Given the description of an element on the screen output the (x, y) to click on. 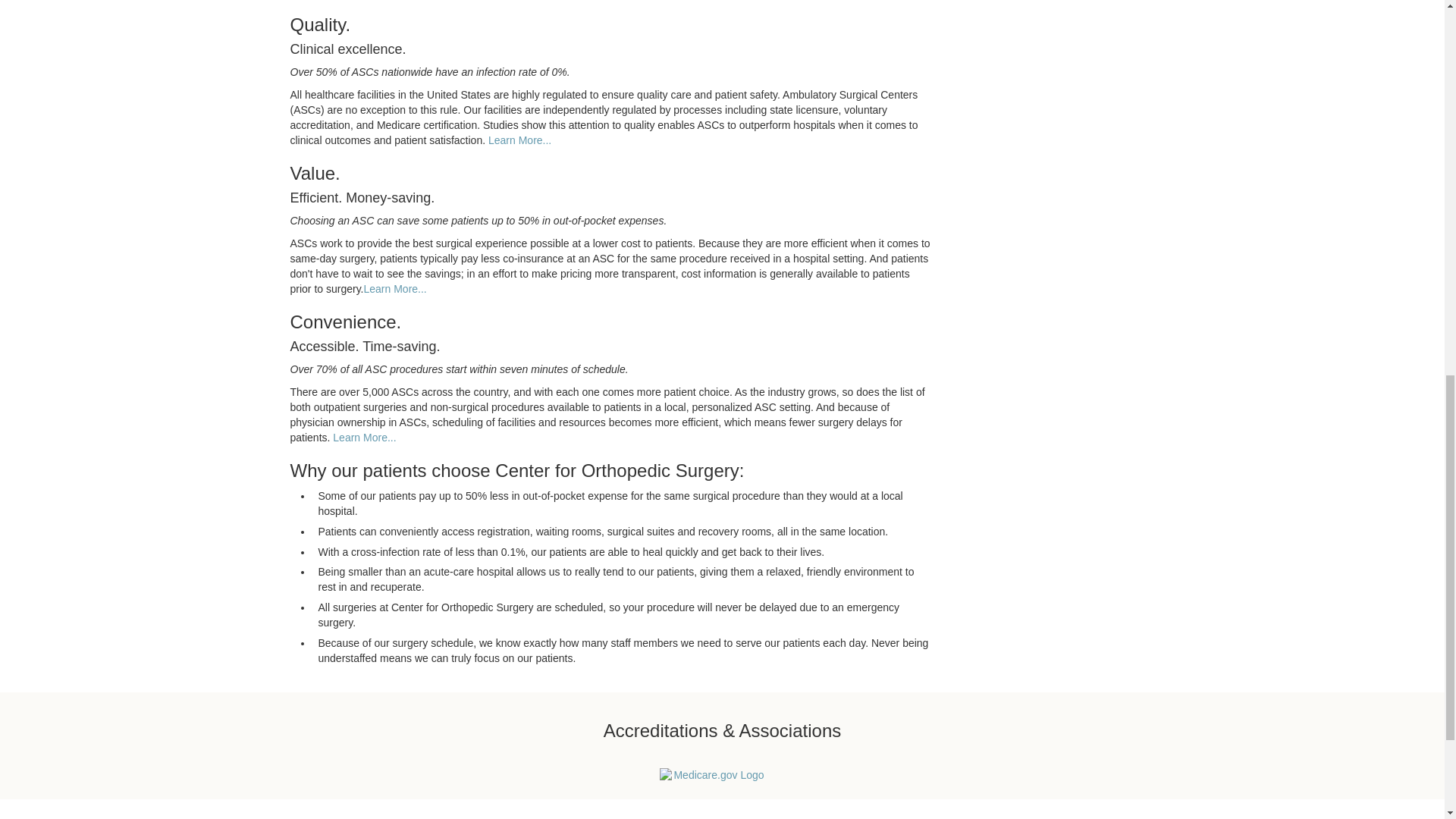
Learn More... (395, 288)
Learn More... (364, 437)
Learn More... (519, 140)
